Given the description of an element on the screen output the (x, y) to click on. 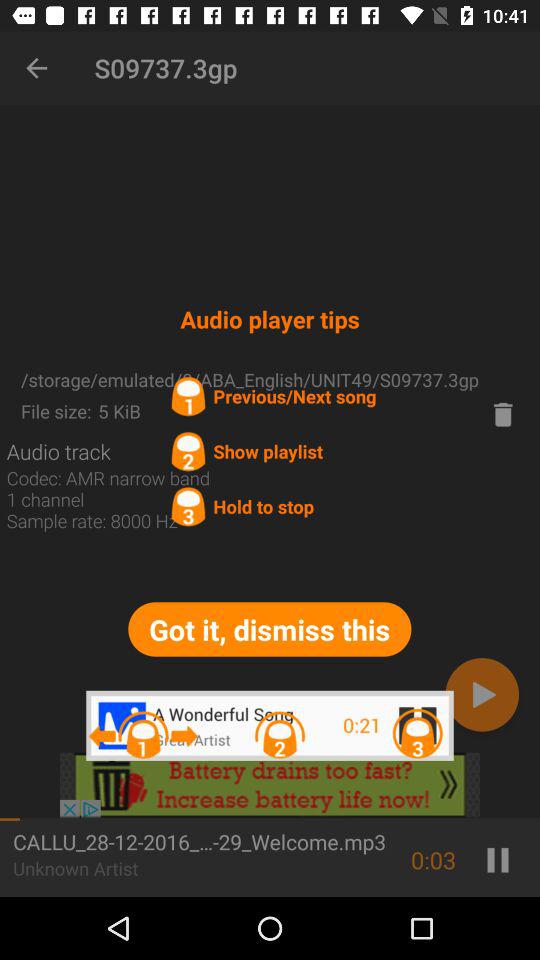
click icon to the left of the show playlist item (58, 451)
